Given the description of an element on the screen output the (x, y) to click on. 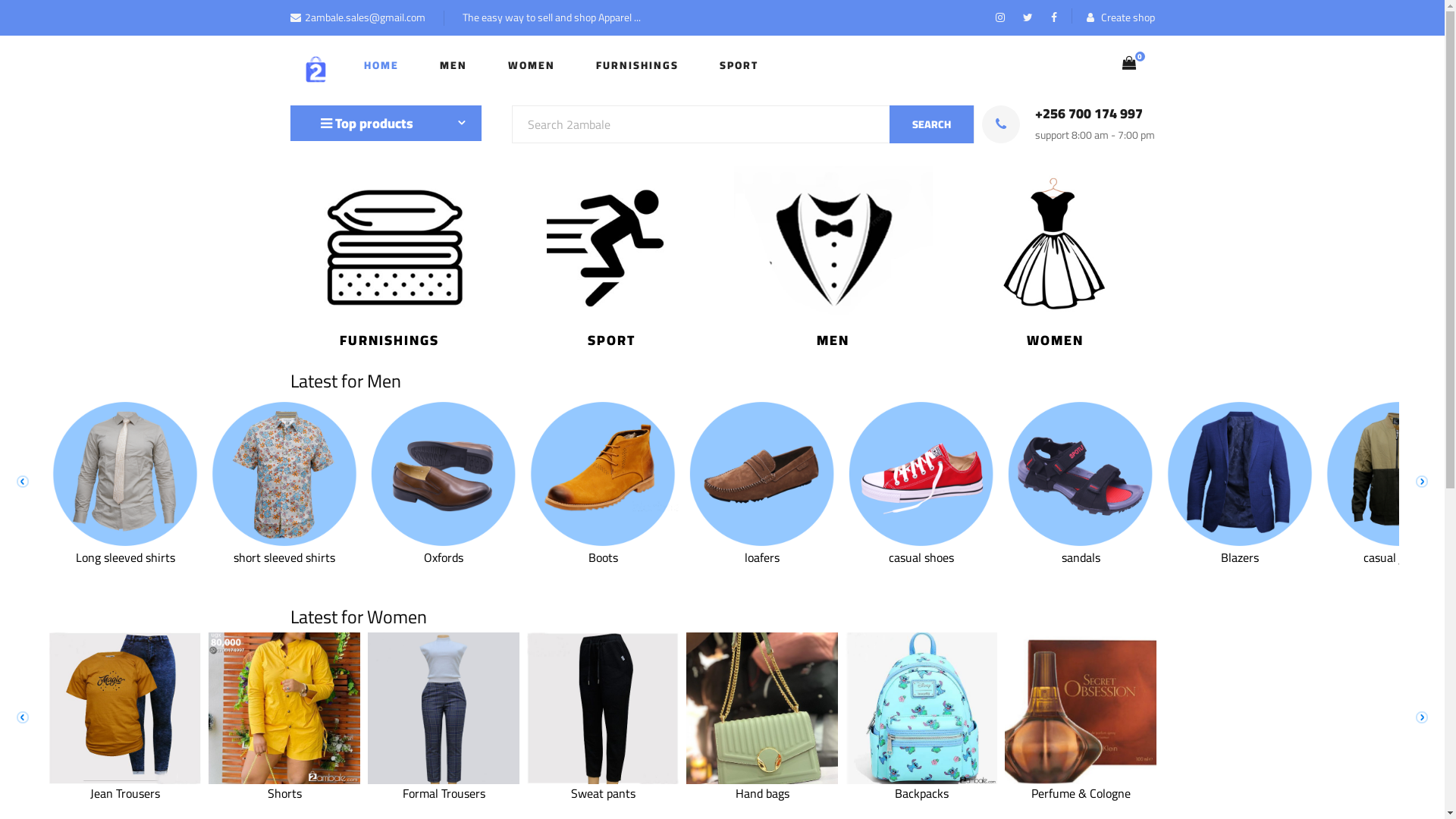
Create shop Element type: text (1119, 17)
Jean Trousers Element type: text (124, 749)
Long sleeved shirts Element type: text (124, 513)
casual shoes Element type: text (921, 513)
Hand bags Element type: text (761, 749)
WOMEN Element type: text (611, 339)
short sleeved shirts Element type: text (284, 513)
sandals Element type: text (1080, 513)
HOME Element type: text (381, 65)
Backpacks Element type: text (921, 749)
SPORT Element type: text (738, 65)
loafers Element type: text (761, 513)
SEARCH Element type: text (931, 124)
Shorts Element type: text (284, 749)
Perfume & Cologne Element type: text (1080, 749)
MEN Element type: text (388, 339)
Blazers Element type: text (1239, 513)
Formal Trousers Element type: text (443, 749)
FURNISHINGS Element type: text (637, 65)
0 Element type: text (1128, 62)
MEN Element type: text (453, 65)
Oxfords Element type: text (443, 513)
WOMEN Element type: text (531, 65)
FURNISHINGS Element type: text (833, 339)
Boots Element type: text (602, 513)
SPORT Element type: text (1054, 339)
Sweat pants Element type: text (602, 749)
